Given the description of an element on the screen output the (x, y) to click on. 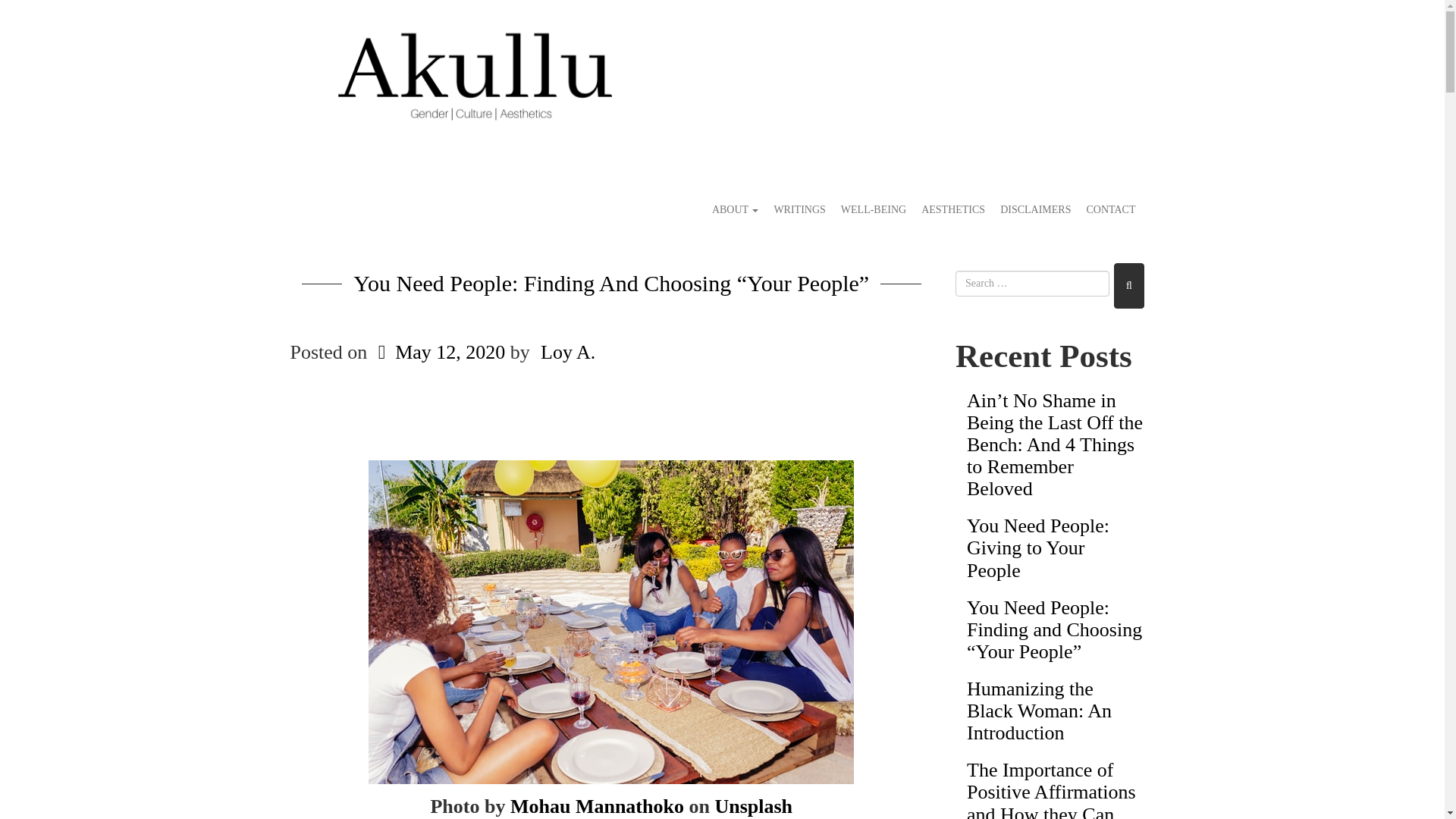
Mohau Mannathoko (597, 806)
Loy A. (567, 352)
WELL-BEING (873, 209)
ABOUT (734, 209)
Unsplash (753, 806)
WRITINGS (798, 209)
CONTACT (1110, 209)
AESTHETICS (953, 209)
DISCLAIMERS (1035, 209)
May 12, 2020 (438, 352)
